Given the description of an element on the screen output the (x, y) to click on. 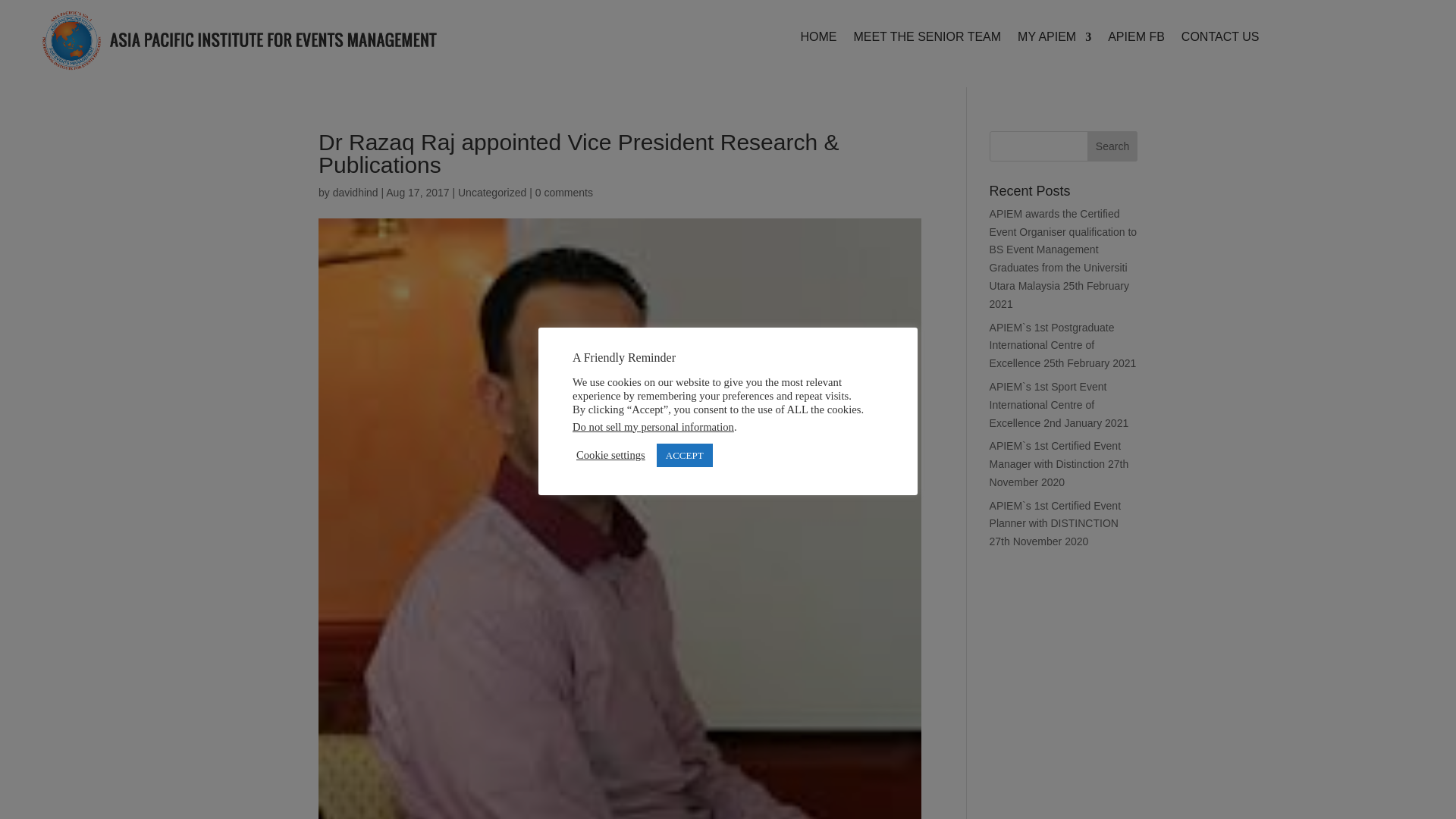
HOME (817, 39)
davidhind (355, 192)
MEET THE SENIOR TEAM (927, 39)
APIEM LOGO WEBSITE (239, 43)
Search (1112, 146)
Search (1112, 146)
APIEM FB (1136, 39)
Uncategorized (491, 192)
CONTACT US (1219, 39)
0 comments (563, 192)
MY APIEM (1053, 39)
Posts by davidhind (355, 192)
